Given the description of an element on the screen output the (x, y) to click on. 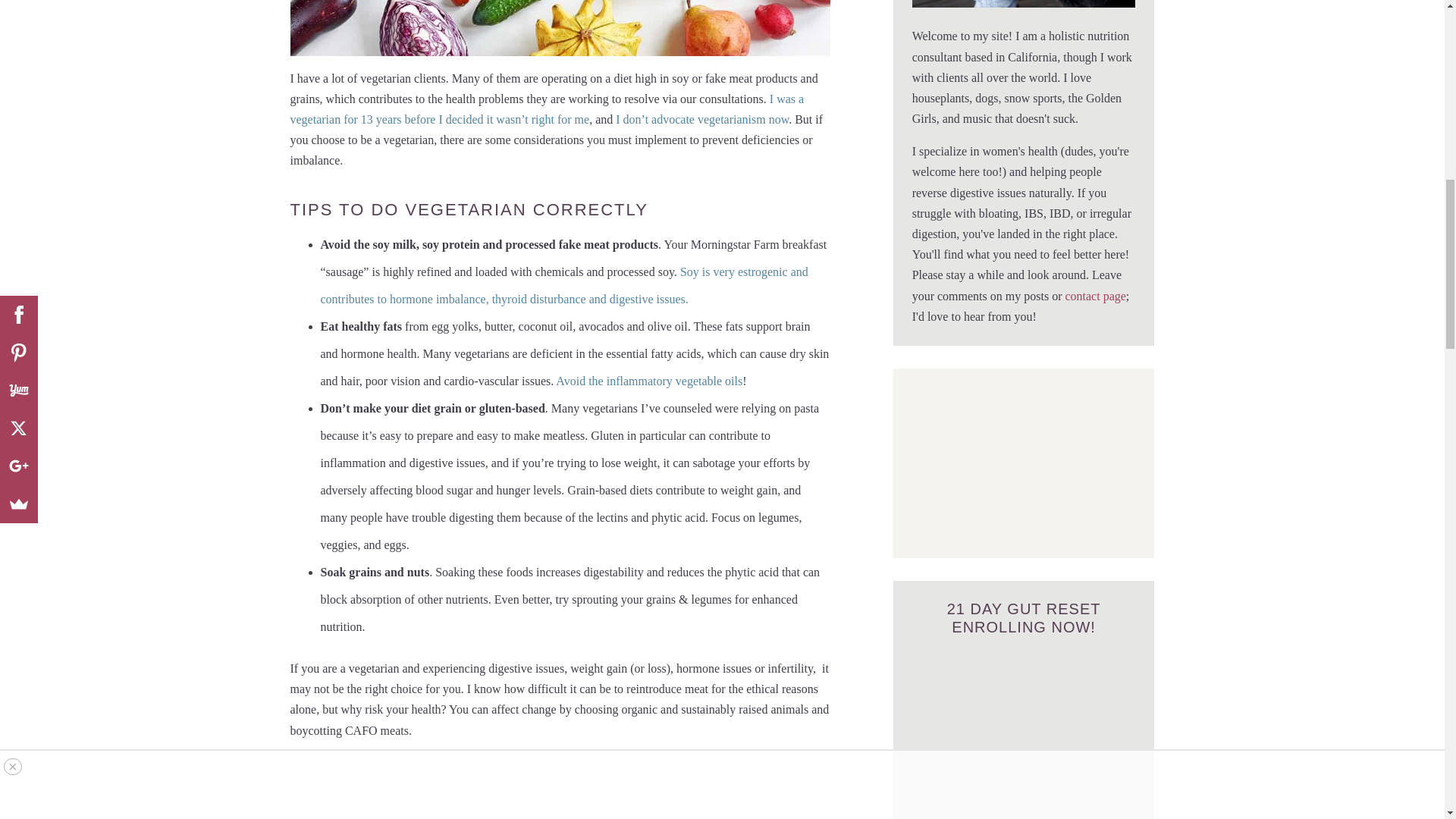
Avoid the inflammatory vegetable oils (649, 380)
